Given the description of an element on the screen output the (x, y) to click on. 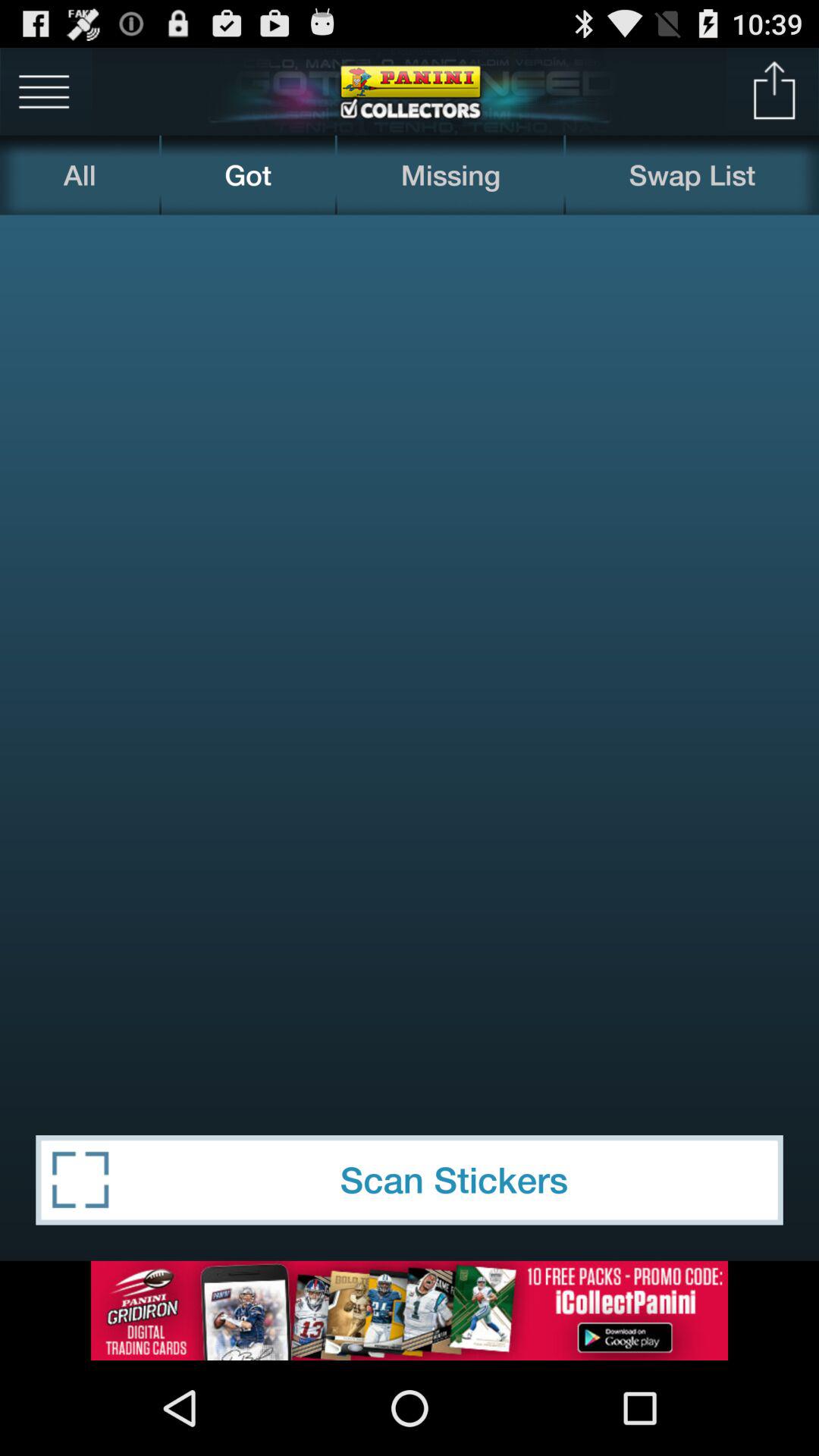
open the missing icon (450, 174)
